Given the description of an element on the screen output the (x, y) to click on. 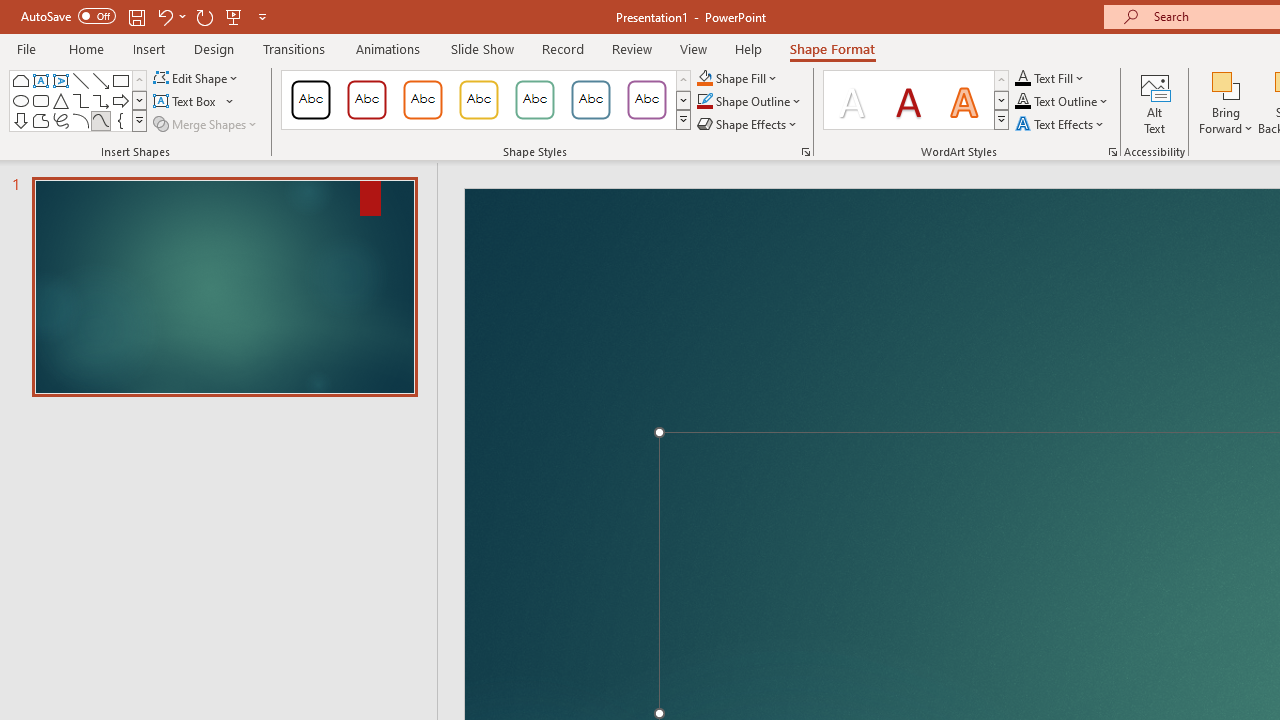
Vertical Text Box (60, 80)
Bring Forward (1225, 84)
Rectangle (120, 80)
Arc (80, 120)
More Options (1225, 121)
Colored Outline - Dark Red, Accent 1 (367, 100)
From Beginning (234, 15)
Merge Shapes (206, 124)
Transitions (294, 48)
Redo (204, 15)
Freeform: Scribble (60, 120)
Undo (164, 15)
Alt Text (1155, 102)
Slide (224, 286)
